Given the description of an element on the screen output the (x, y) to click on. 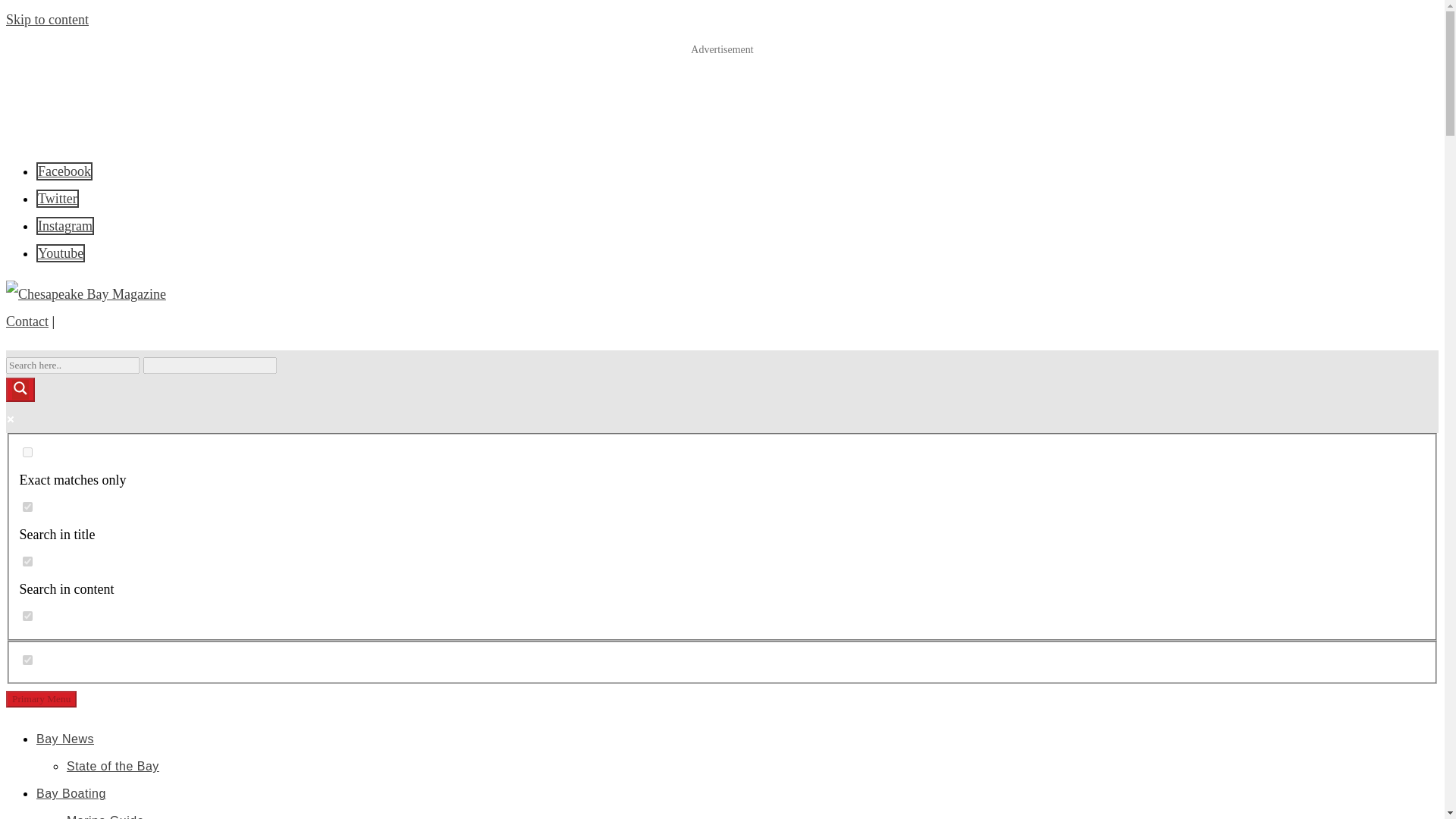
content (27, 561)
Bay News (65, 738)
Instagram (65, 226)
Facebook (64, 171)
excerpt (27, 615)
Bay Boating (71, 793)
Skip to content (46, 19)
Marina Guide (105, 816)
Start search (285, 359)
Primary Menu (41, 699)
State of the Bay (112, 766)
Youtube (60, 253)
exact (27, 452)
Contact (26, 321)
post (27, 660)
